Given the description of an element on the screen output the (x, y) to click on. 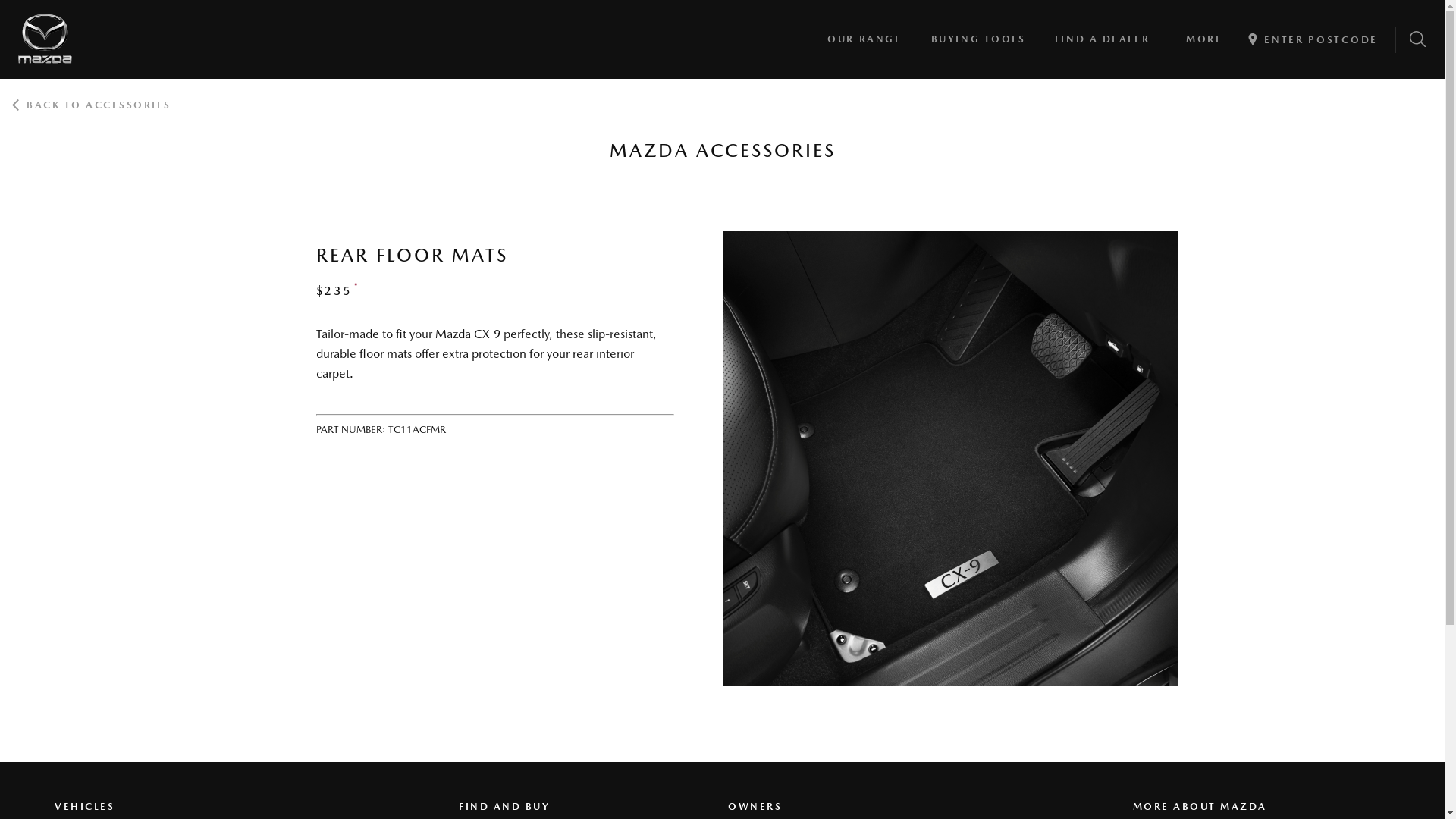
MORE Element type: text (1204, 39)
BUYING TOOLS Element type: text (978, 39)
FIND A DEALER Element type: text (1101, 39)
* Element type: text (354, 287)
ENTER POSTCODE Element type: text (1319, 39)
OUR RANGE Element type: text (864, 39)
BACK TO ACCESSORIES Element type: text (93, 104)
